Given the description of an element on the screen output the (x, y) to click on. 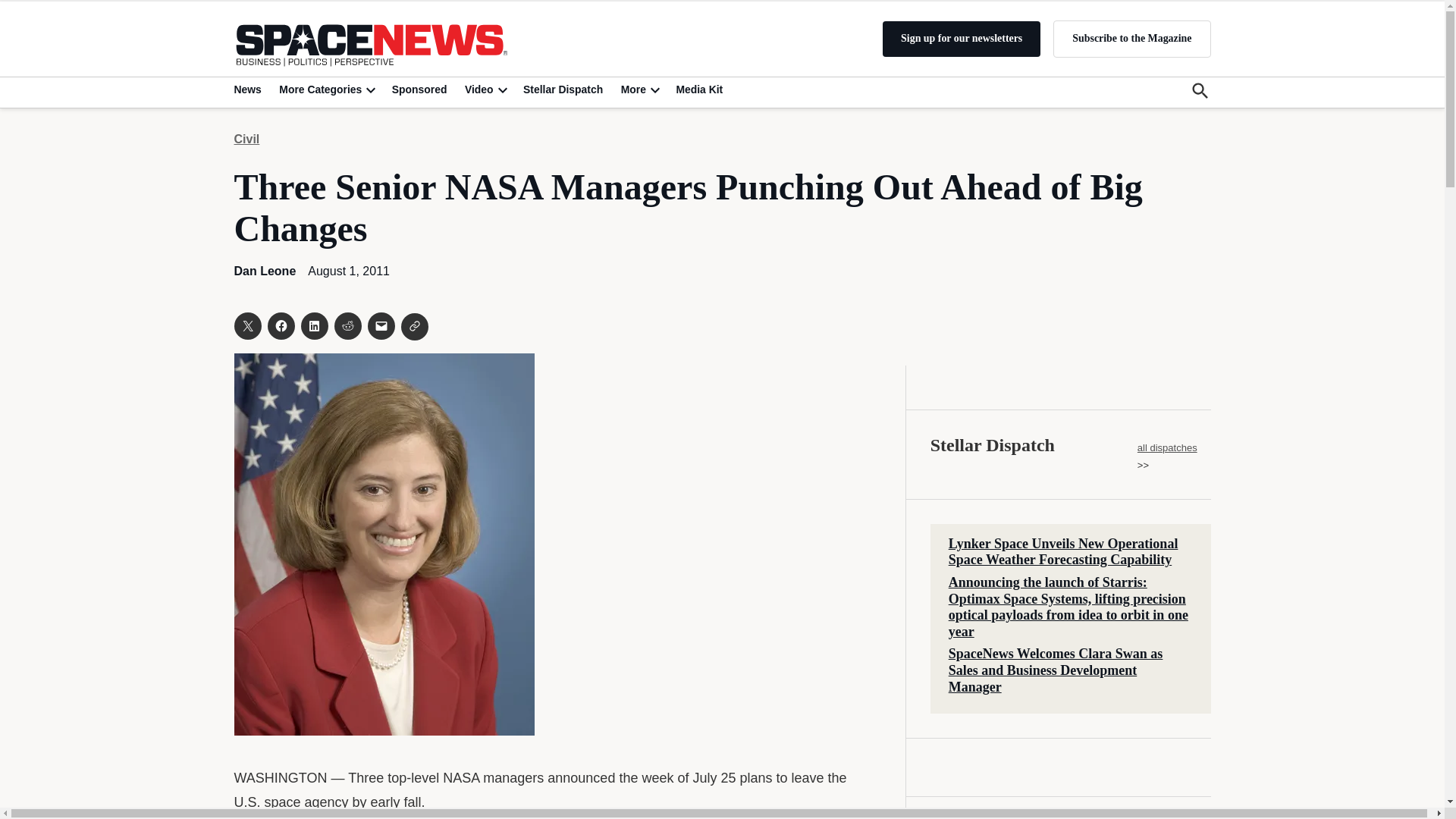
Click to share on Clipboard (414, 326)
Subscribe to the Magazine (1130, 38)
Click to share on X (246, 325)
Sign up for our newsletters (961, 38)
Click to share on Reddit (347, 325)
Click to email a link to a friend (380, 325)
Click to share on Facebook (280, 325)
Click to share on LinkedIn (313, 325)
